Given the description of an element on the screen output the (x, y) to click on. 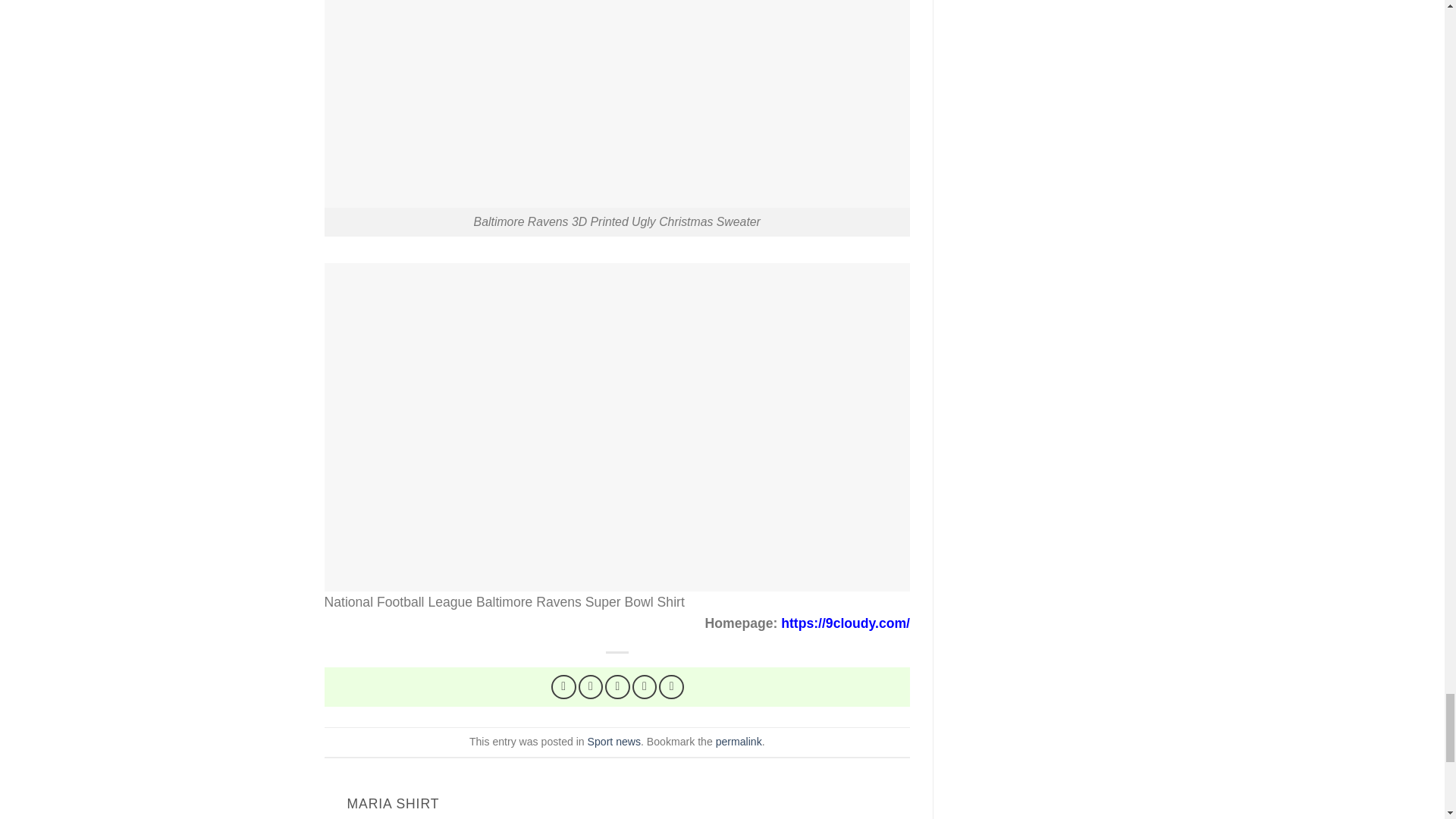
Share on Facebook (563, 687)
Email to a Friend (617, 687)
Share on Twitter (591, 687)
Sport news (614, 741)
Share on LinkedIn (671, 687)
Pin on Pinterest (644, 687)
